Given the description of an element on the screen output the (x, y) to click on. 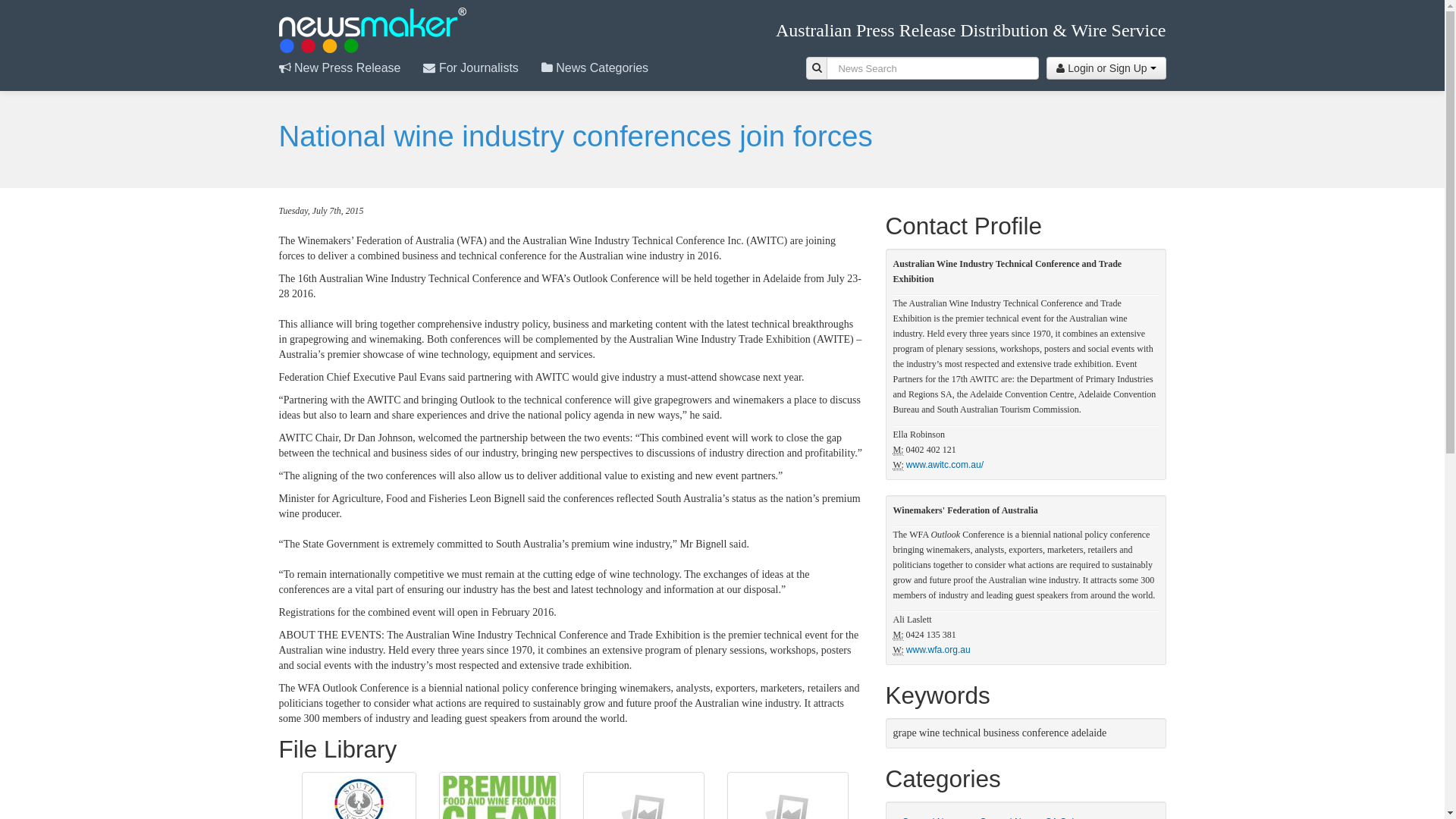
www.awitc.com.au/ Element type: text (944, 464)
News Categories Element type: text (606, 68)
www.wfa.org.au Element type: text (938, 649)
Login or Sign Up Element type: text (1105, 67)
For Journalists Element type: text (481, 68)
New Press Release Element type: text (351, 68)
